Given the description of an element on the screen output the (x, y) to click on. 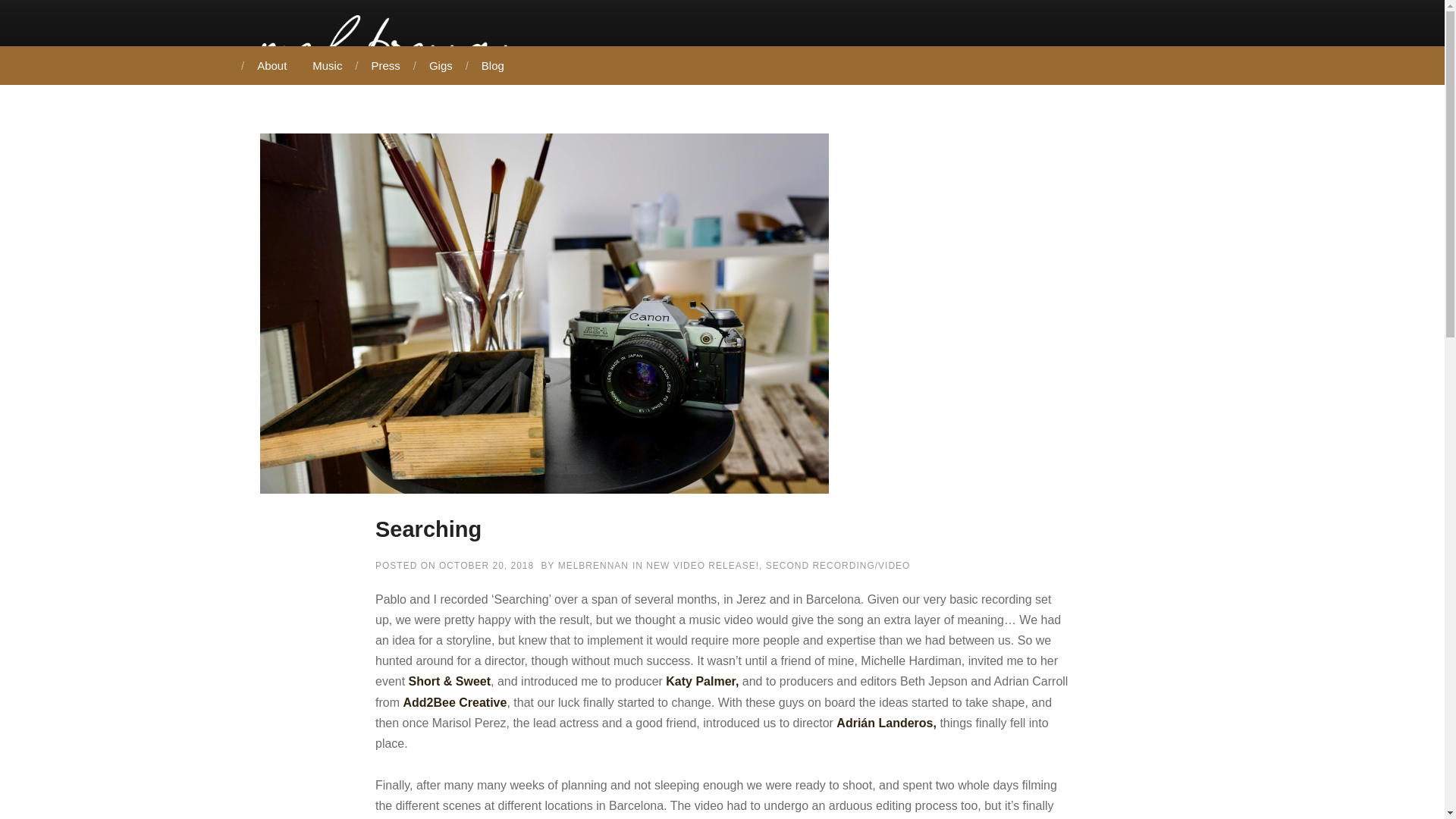
MELBRENNAN (592, 565)
About (270, 65)
Add2Bee Creative (454, 702)
OCTOBER 20, 2018 (486, 565)
Katy Palmer, (701, 680)
Music (327, 65)
Gigs (439, 65)
NEW VIDEO RELEASE! (702, 565)
Press (384, 65)
Blog (491, 65)
